Given the description of an element on the screen output the (x, y) to click on. 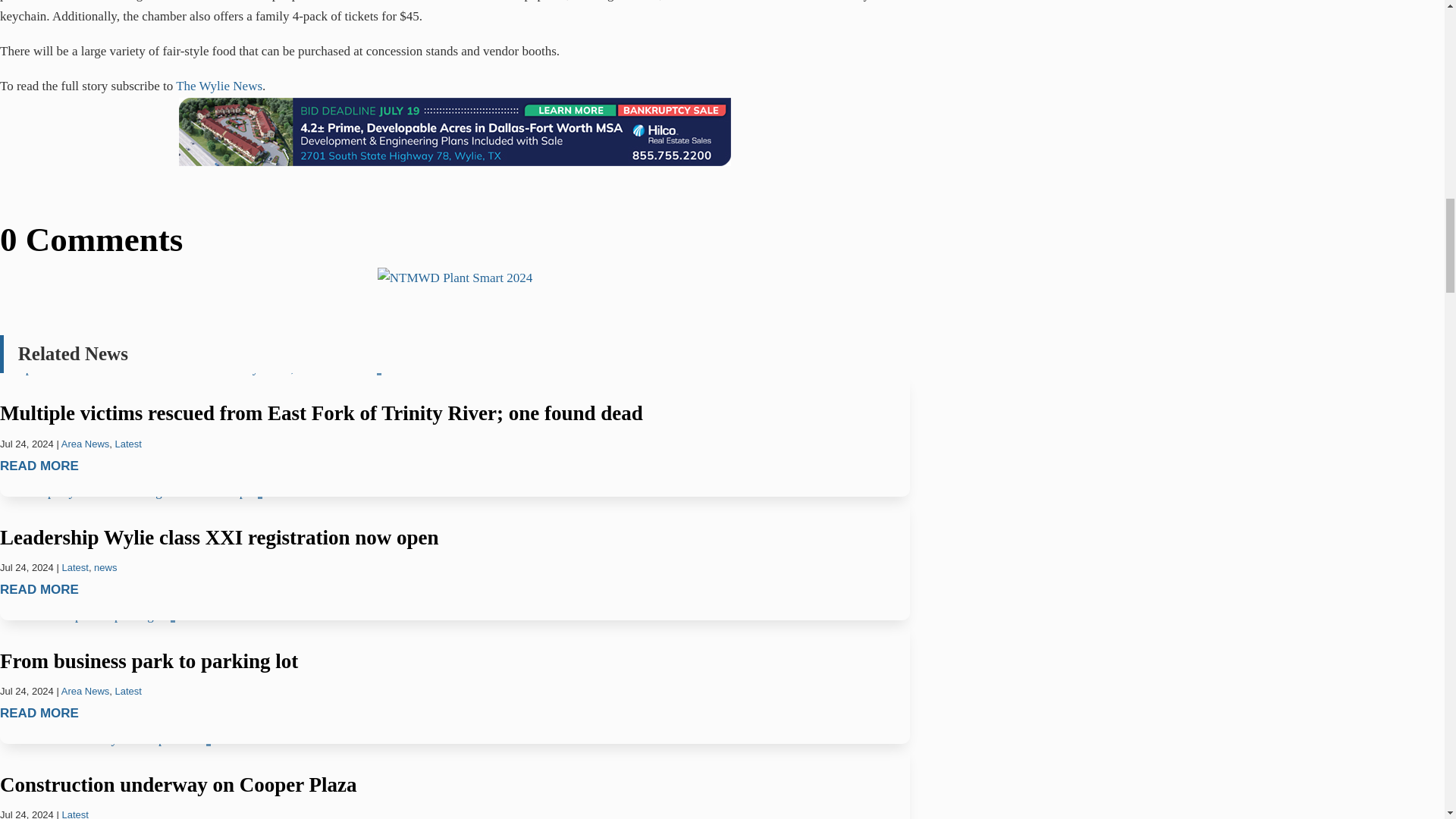
FY24-NativePlants-Display300x250 (454, 278)
